Given the description of an element on the screen output the (x, y) to click on. 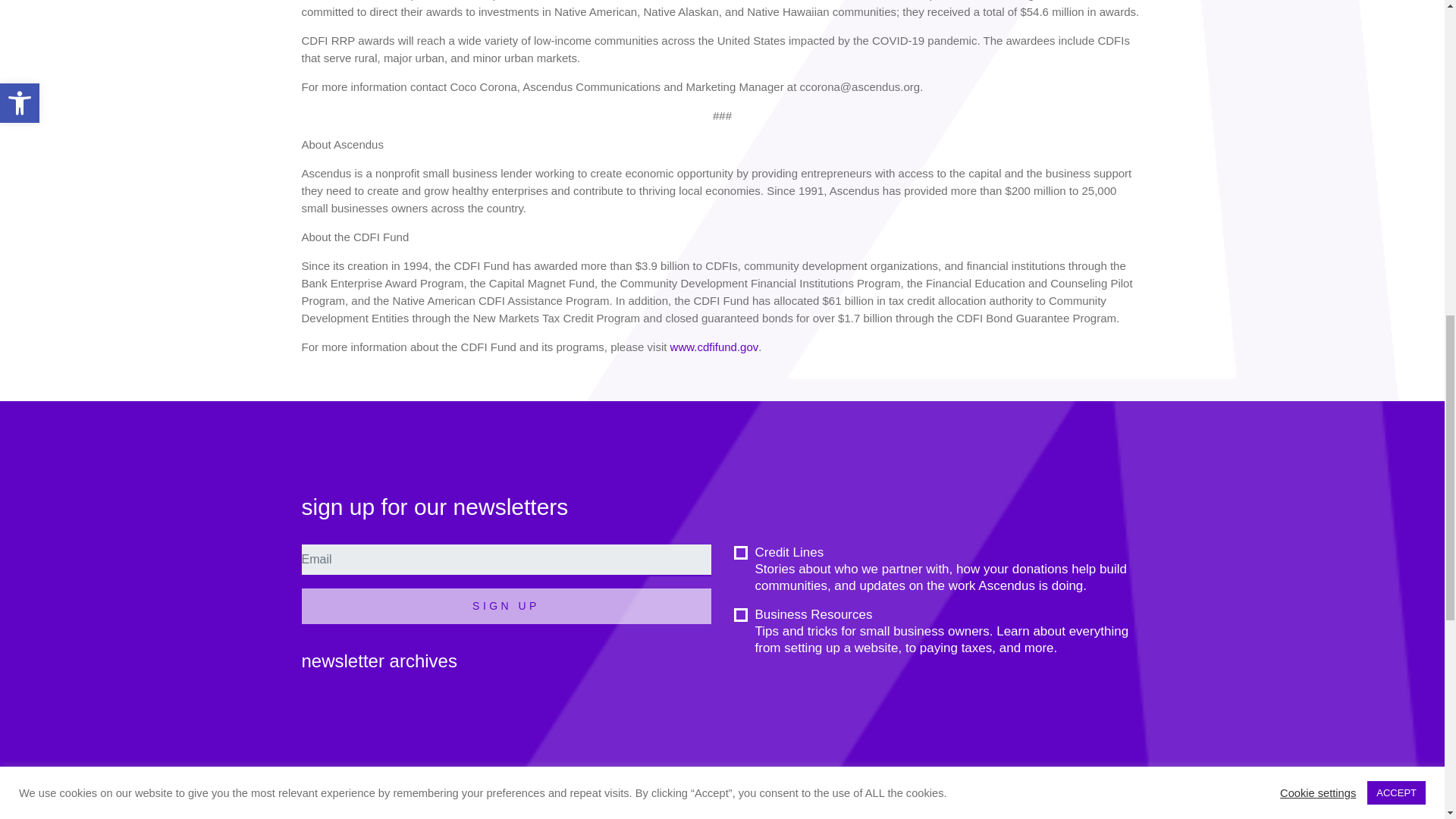
newsletter archives (379, 660)
www.cdfifund.gov (713, 346)
SIGN UP (506, 606)
